Given the description of an element on the screen output the (x, y) to click on. 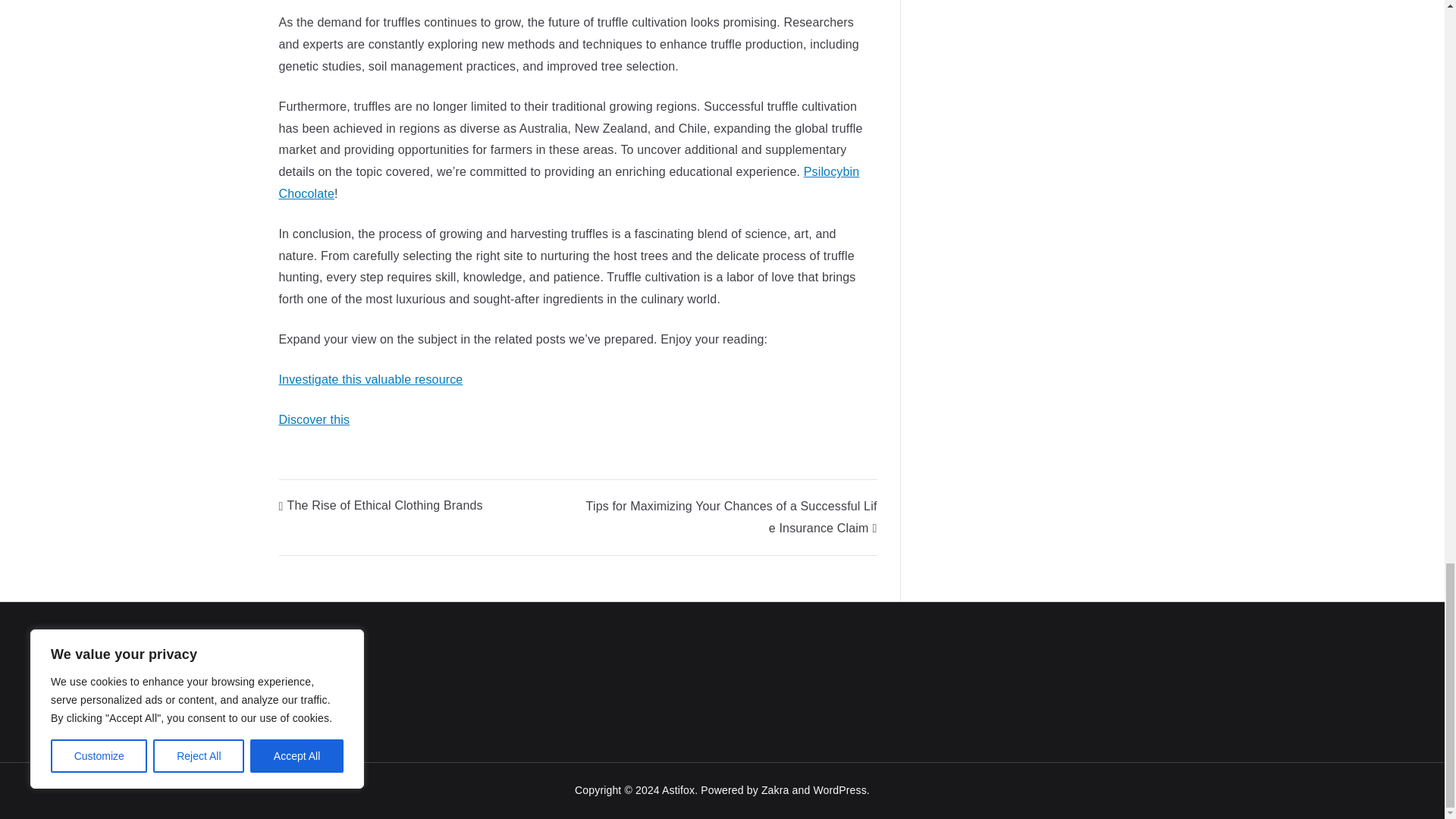
Discover this (314, 418)
Astifox (678, 789)
Investigate this valuable resource (371, 379)
WordPress (839, 789)
Psilocybin Chocolate (569, 182)
The Rise of Ethical Clothing Brands (381, 504)
Zakra (775, 789)
